Given the description of an element on the screen output the (x, y) to click on. 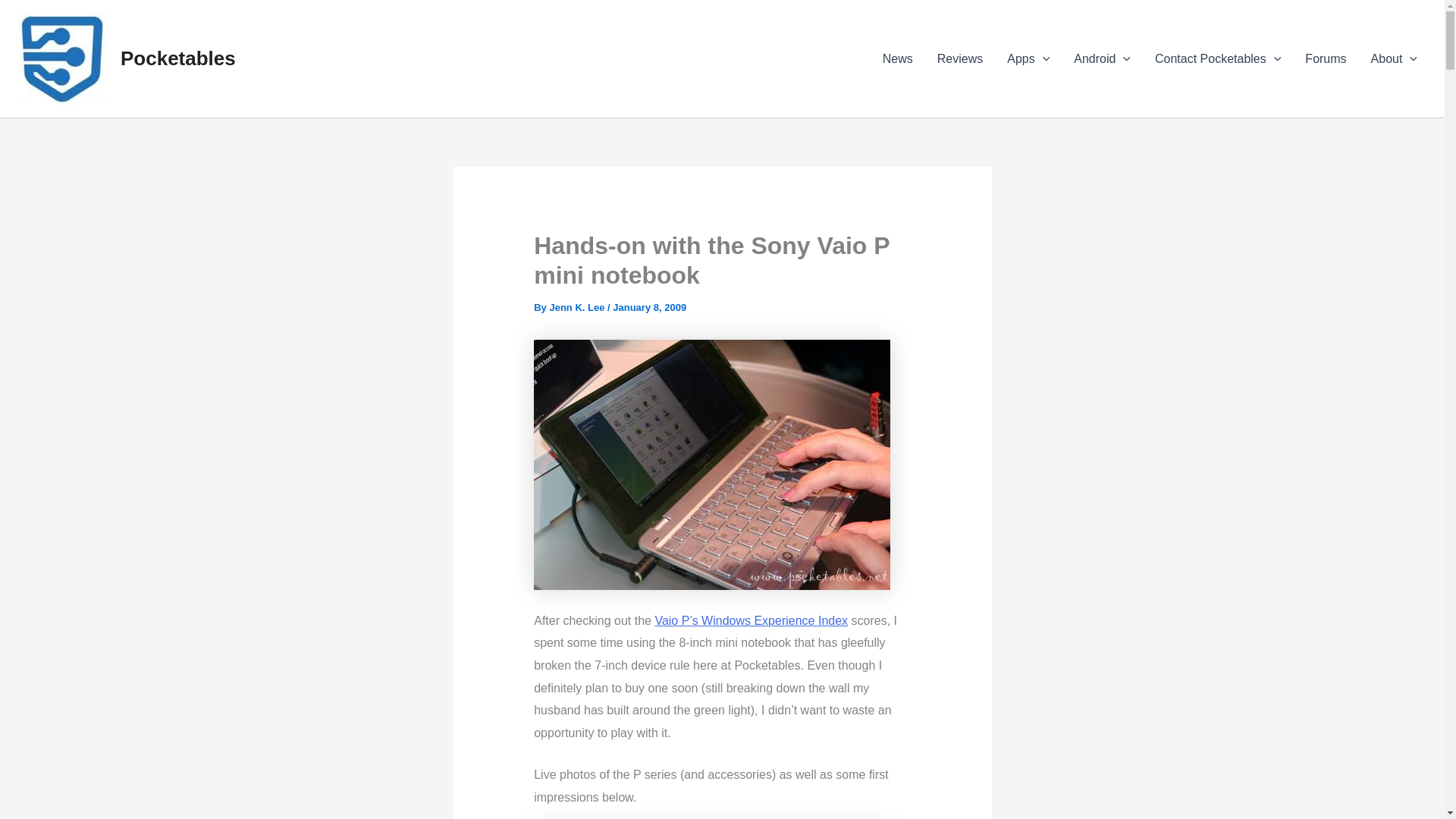
Pocketables (177, 57)
About (1393, 58)
Contact Pocketables (1217, 58)
News (897, 58)
View all posts by Jenn K. Lee (576, 307)
Android (1101, 58)
Apps (1027, 58)
Forums (1325, 58)
Reviews (959, 58)
